Given the description of an element on the screen output the (x, y) to click on. 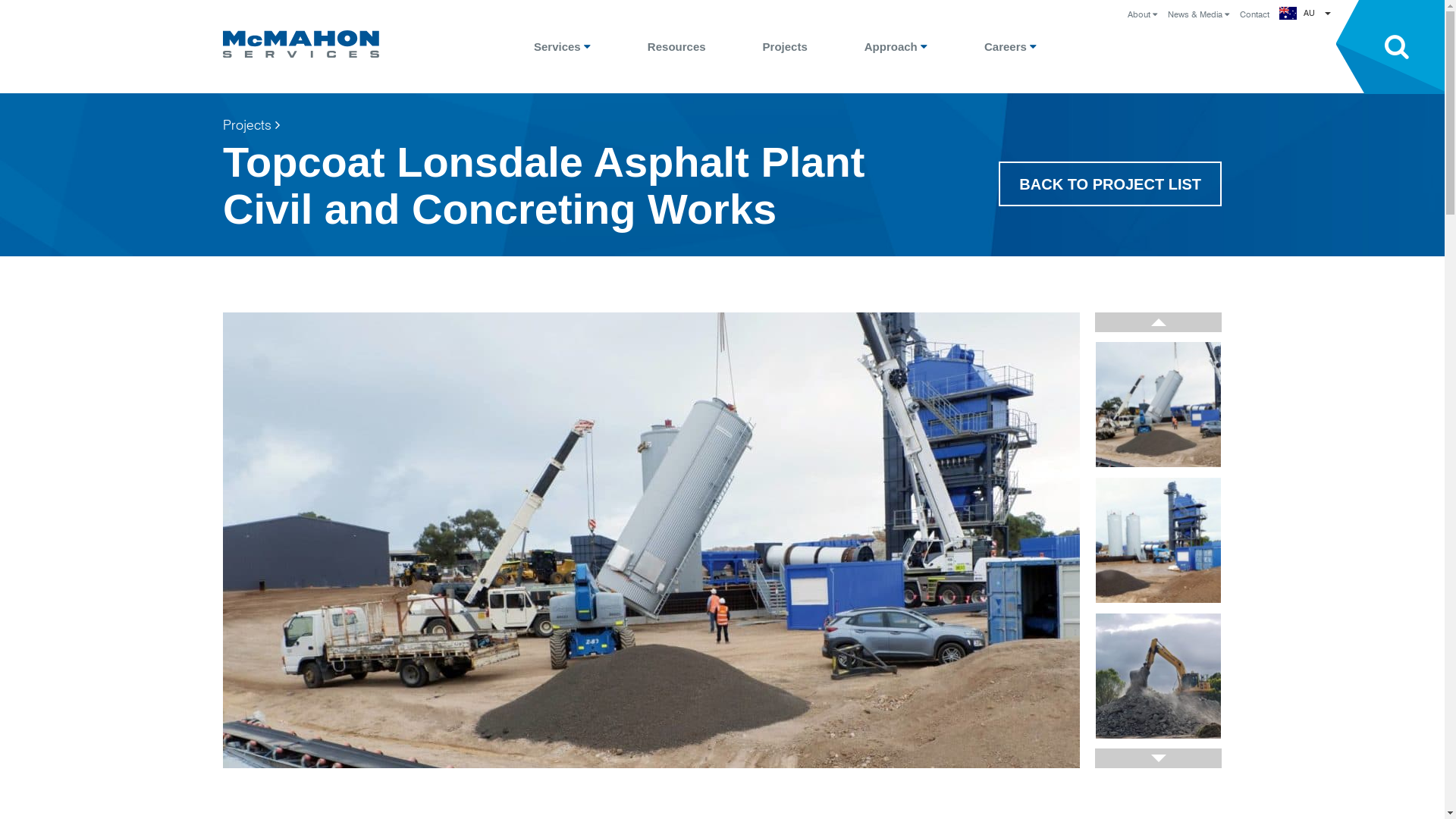
next Element type: text (1158, 758)
previous Element type: text (1158, 322)
Careers Element type: text (1010, 46)
AU Element type: text (1316, 14)
Projects Element type: text (252, 125)
Projects Element type: text (784, 46)
Approach Element type: text (895, 46)
BACK TO PROJECT LIST Element type: text (1109, 183)
News & Media Element type: text (1198, 15)
Mc Mahon Services Element type: text (300, 43)
Contact Element type: text (1254, 15)
About Element type: text (1142, 15)
search btn Element type: text (1390, 47)
Services Element type: text (561, 46)
Resources Element type: text (676, 46)
